Given the description of an element on the screen output the (x, y) to click on. 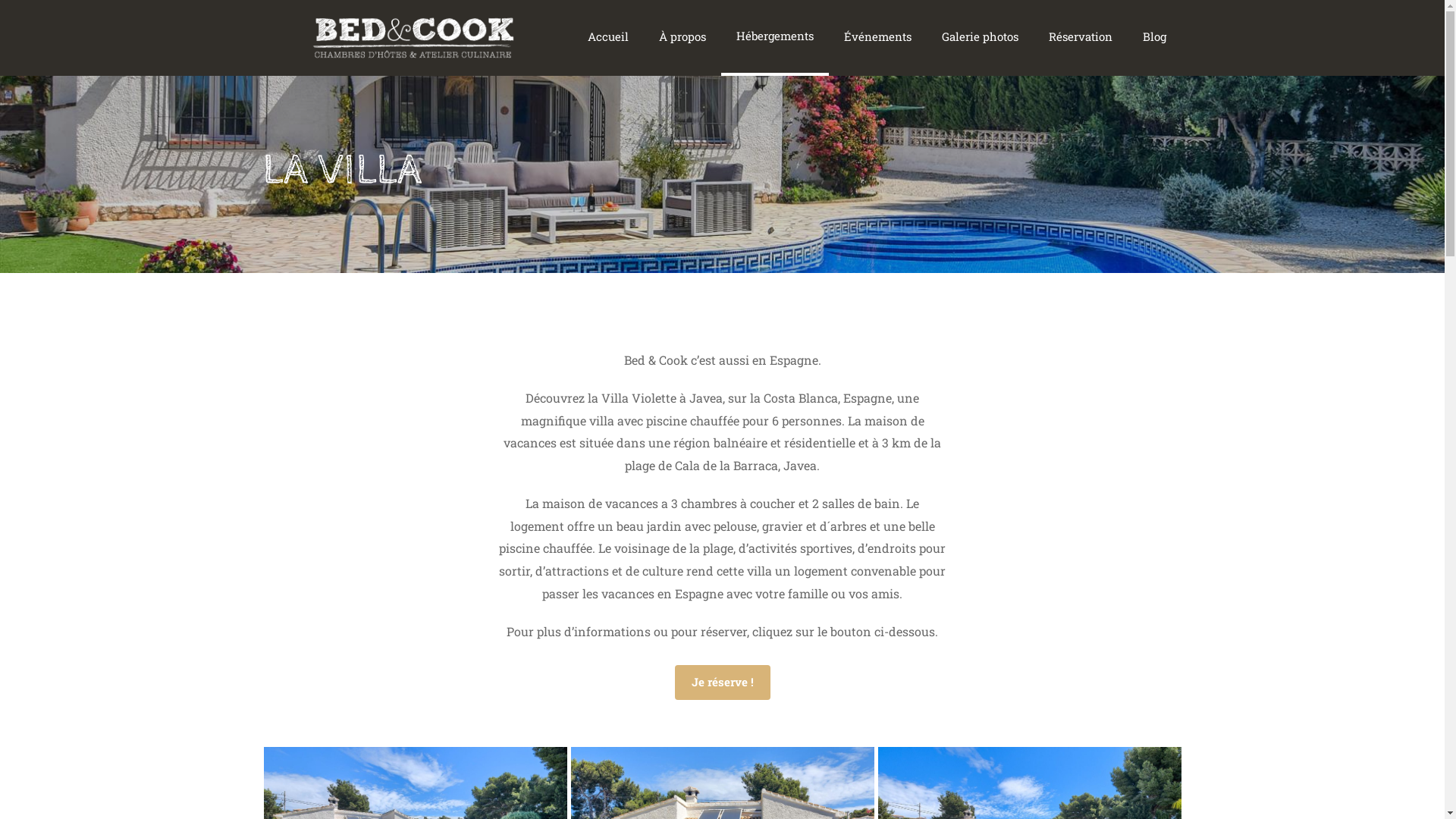
Accueil Element type: text (607, 37)
Galerie photos Element type: text (979, 37)
Blog Element type: text (1154, 37)
